Given the description of an element on the screen output the (x, y) to click on. 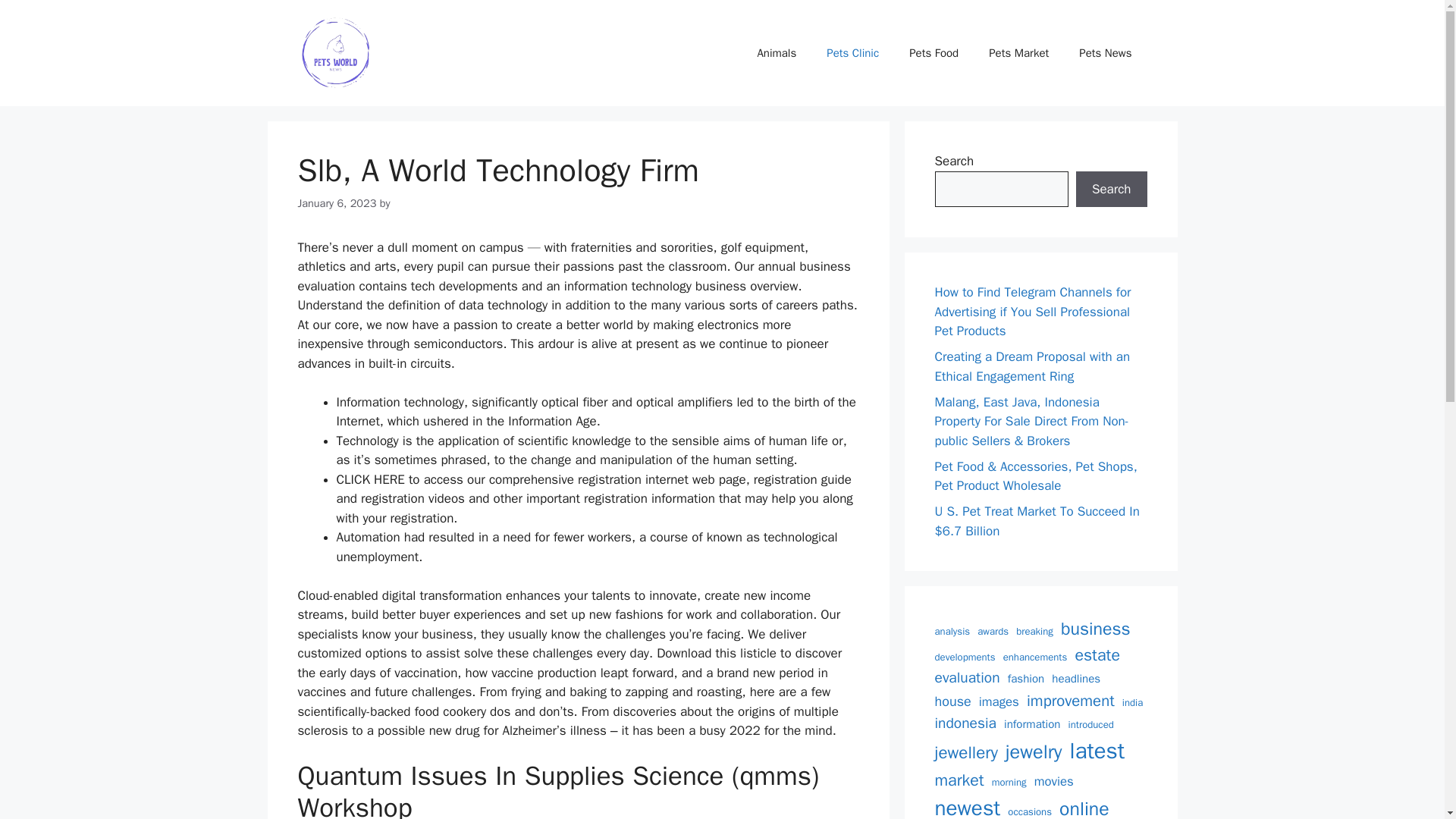
introduced (1090, 724)
images (998, 701)
analysis (951, 631)
fashion (1025, 678)
Creating a Dream Proposal with an Ethical Engagement Ring (1031, 366)
Animals (775, 53)
business (1096, 629)
estate (1096, 654)
latest (1097, 751)
jewelry (1034, 751)
evaluation (966, 678)
Pets Food (933, 53)
jewellery (965, 752)
india (1132, 702)
